Given the description of an element on the screen output the (x, y) to click on. 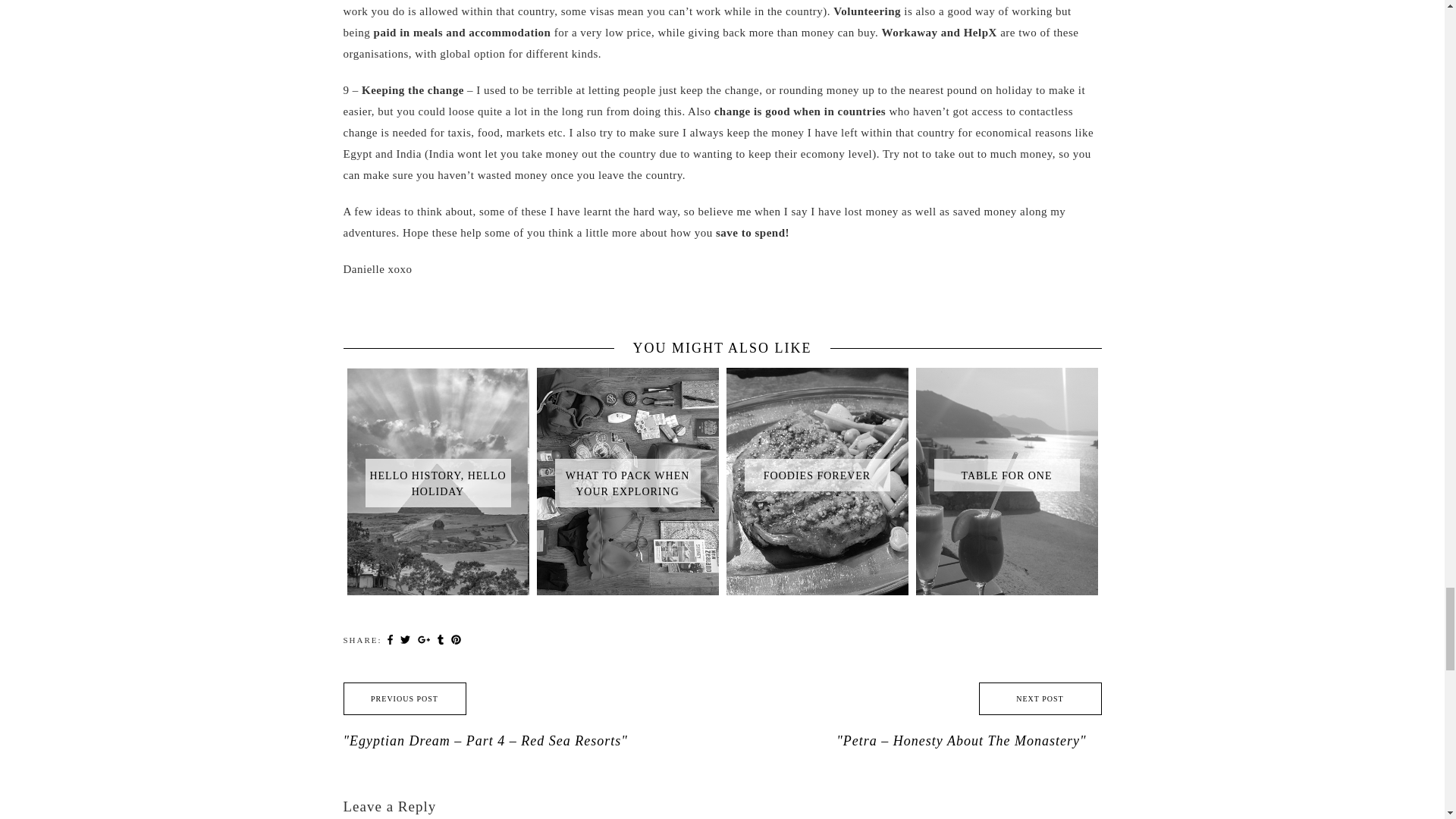
HELLO HISTORY, HELLO HOLIDAY (438, 391)
WHAT TO PACK WHEN YOUR EXPLORING (628, 391)
TABLE FOR ONE (1006, 383)
FOODIES FOREVER (817, 383)
